Given the description of an element on the screen output the (x, y) to click on. 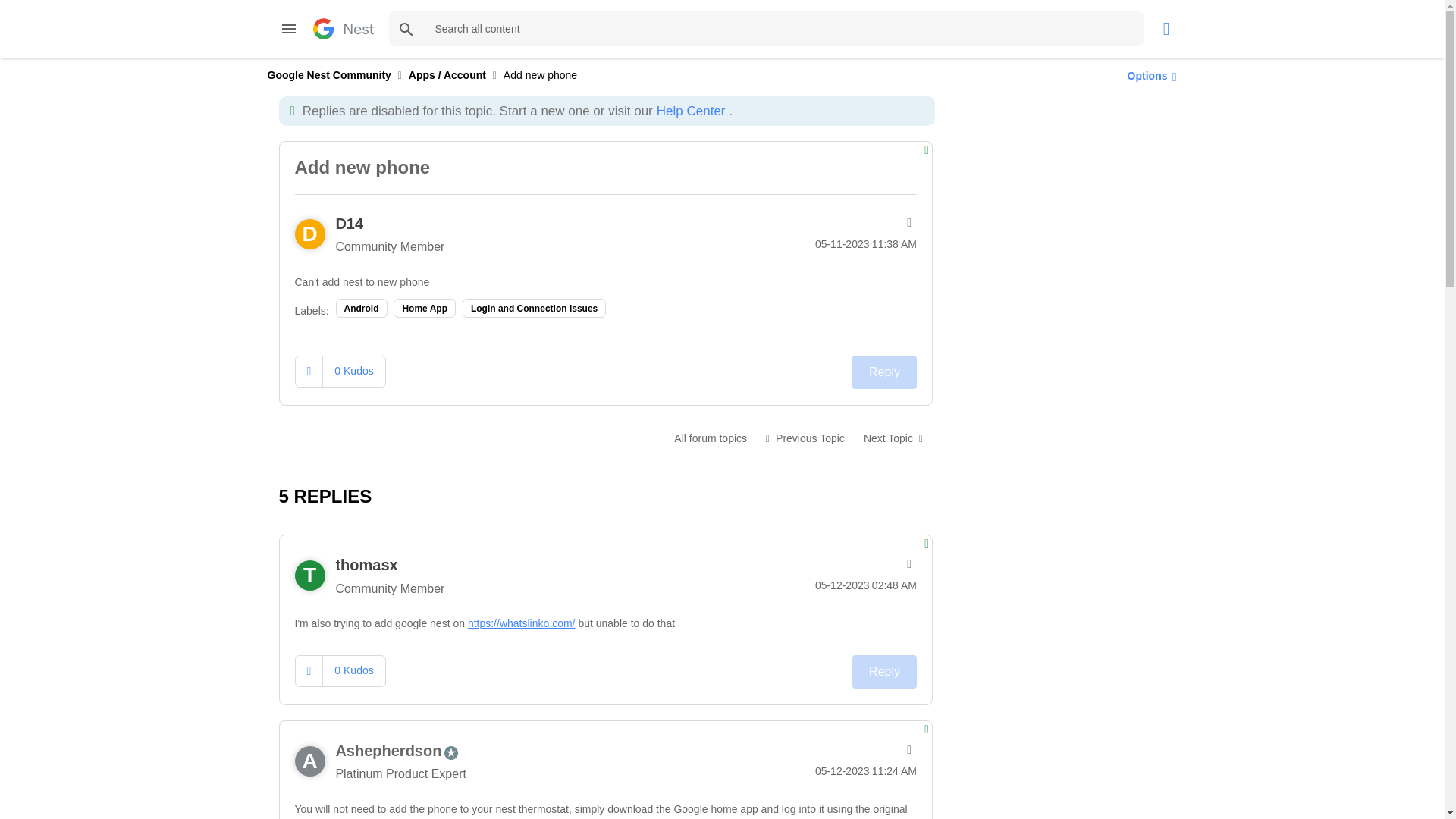
Options (1147, 75)
Search (765, 28)
Help Center (690, 110)
Show option menu (907, 222)
Show option menu (1147, 75)
Android (361, 307)
D14 (348, 223)
The total number of kudos this post has received. (353, 370)
Show option menu (907, 564)
Home App (424, 307)
Google Nest Community (328, 74)
Google Hub Max use in Ukraine (893, 438)
Google Nest Community (342, 28)
Options (907, 222)
Click here to give kudos to this post. (309, 670)
